Given the description of an element on the screen output the (x, y) to click on. 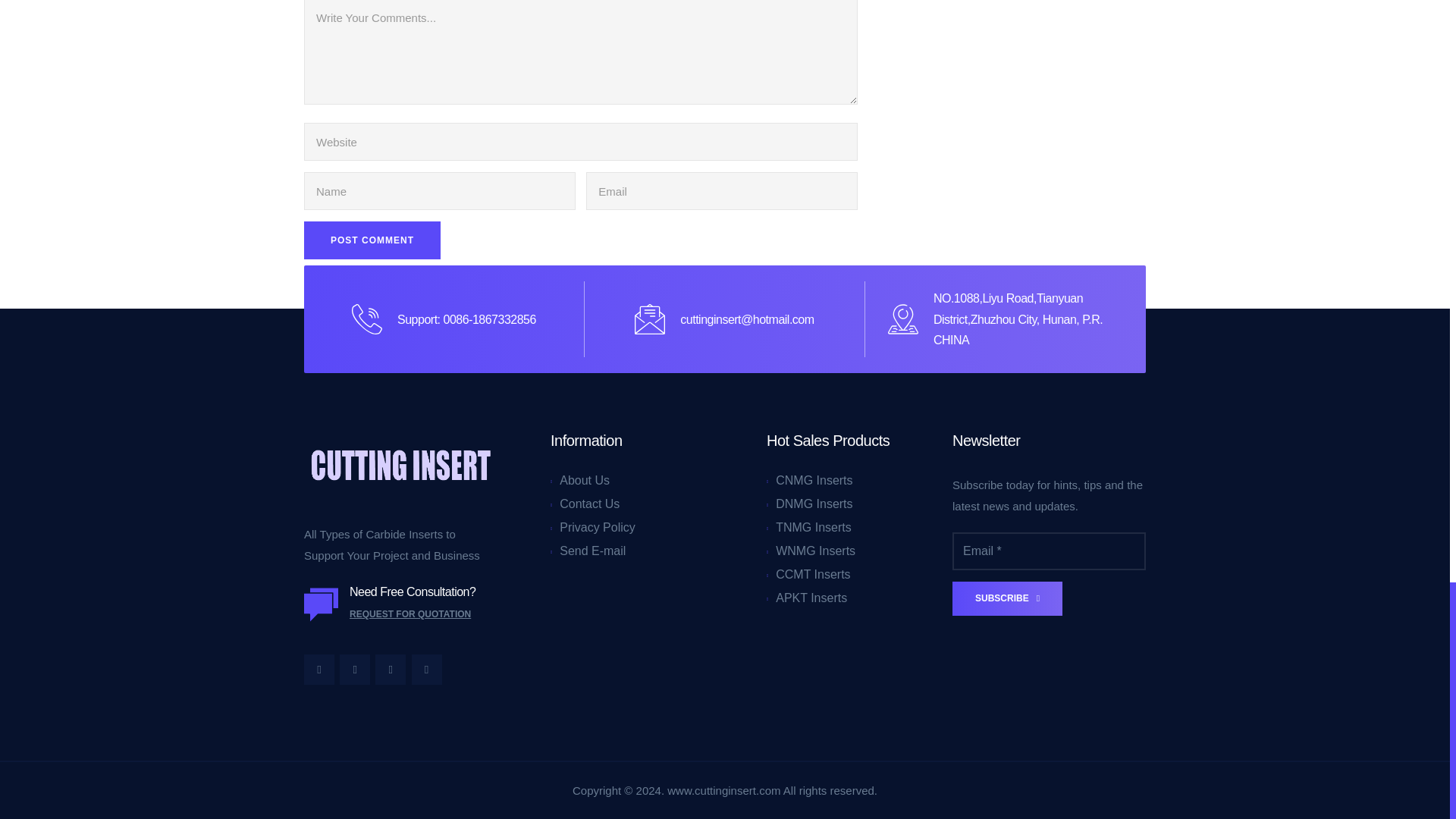
Post Comment (372, 240)
